Given the description of an element on the screen output the (x, y) to click on. 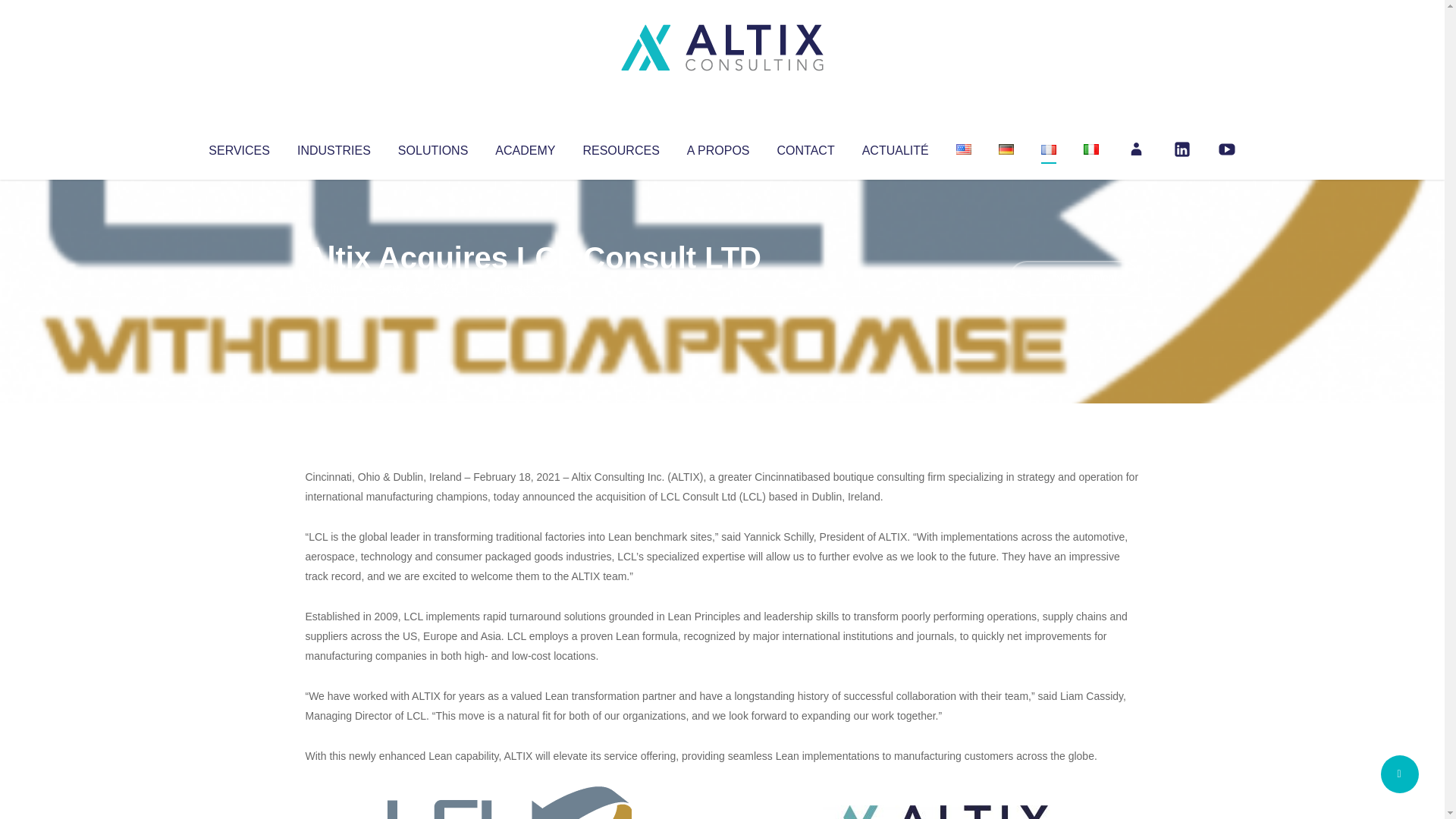
Uncategorized (530, 287)
SERVICES (238, 146)
INDUSTRIES (334, 146)
SOLUTIONS (432, 146)
Altix (333, 287)
No Comments (1073, 278)
Articles par Altix (333, 287)
RESOURCES (620, 146)
ACADEMY (524, 146)
A PROPOS (718, 146)
